Given the description of an element on the screen output the (x, y) to click on. 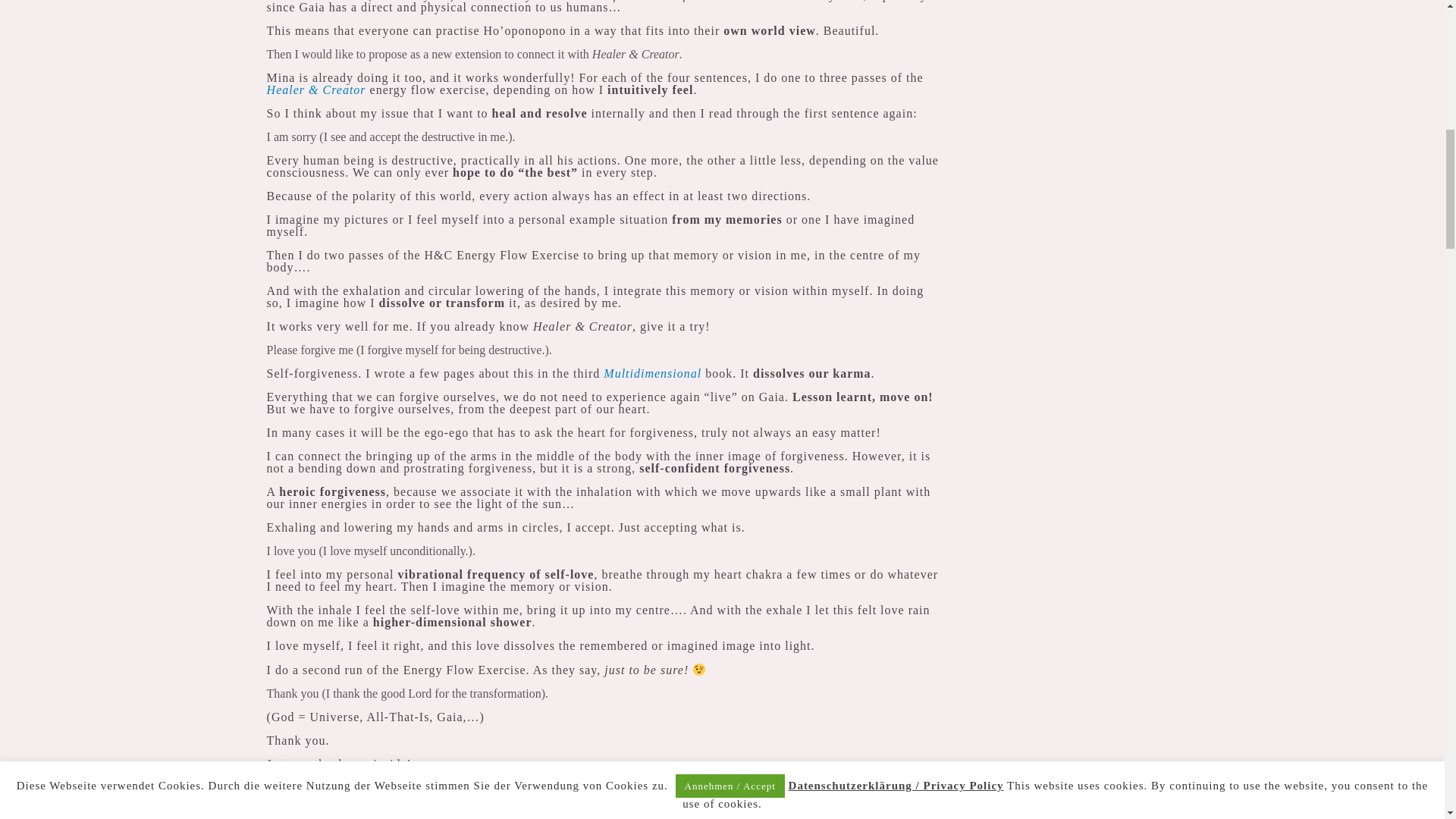
Multidimensional (652, 373)
